Given the description of an element on the screen output the (x, y) to click on. 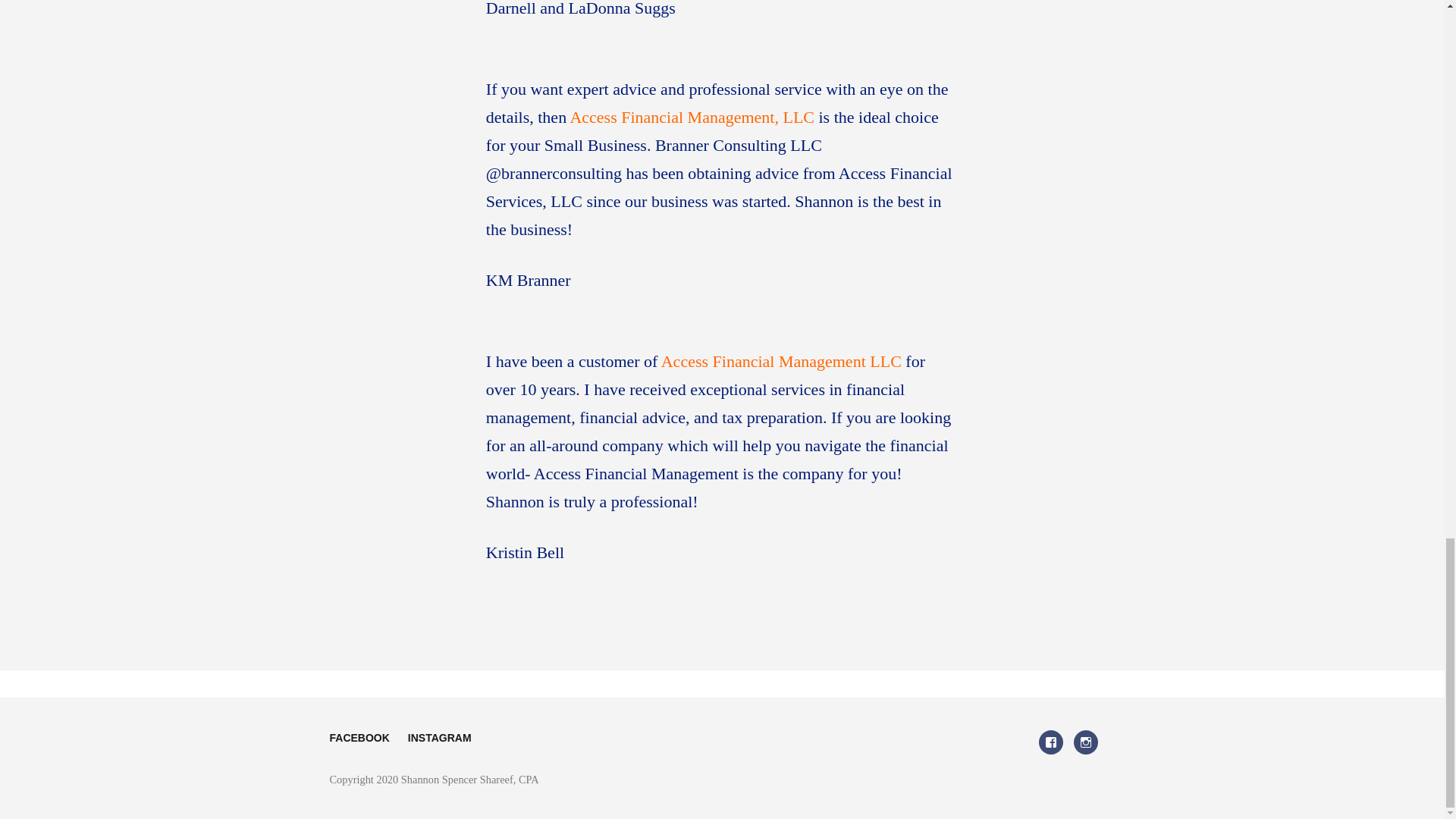
FACEBOOK (358, 737)
Facebook (1050, 742)
Instagram (1085, 742)
Access Financial Management, LLC (691, 116)
INSTAGRAM (439, 737)
Access Financial Management LLC (781, 361)
